Given the description of an element on the screen output the (x, y) to click on. 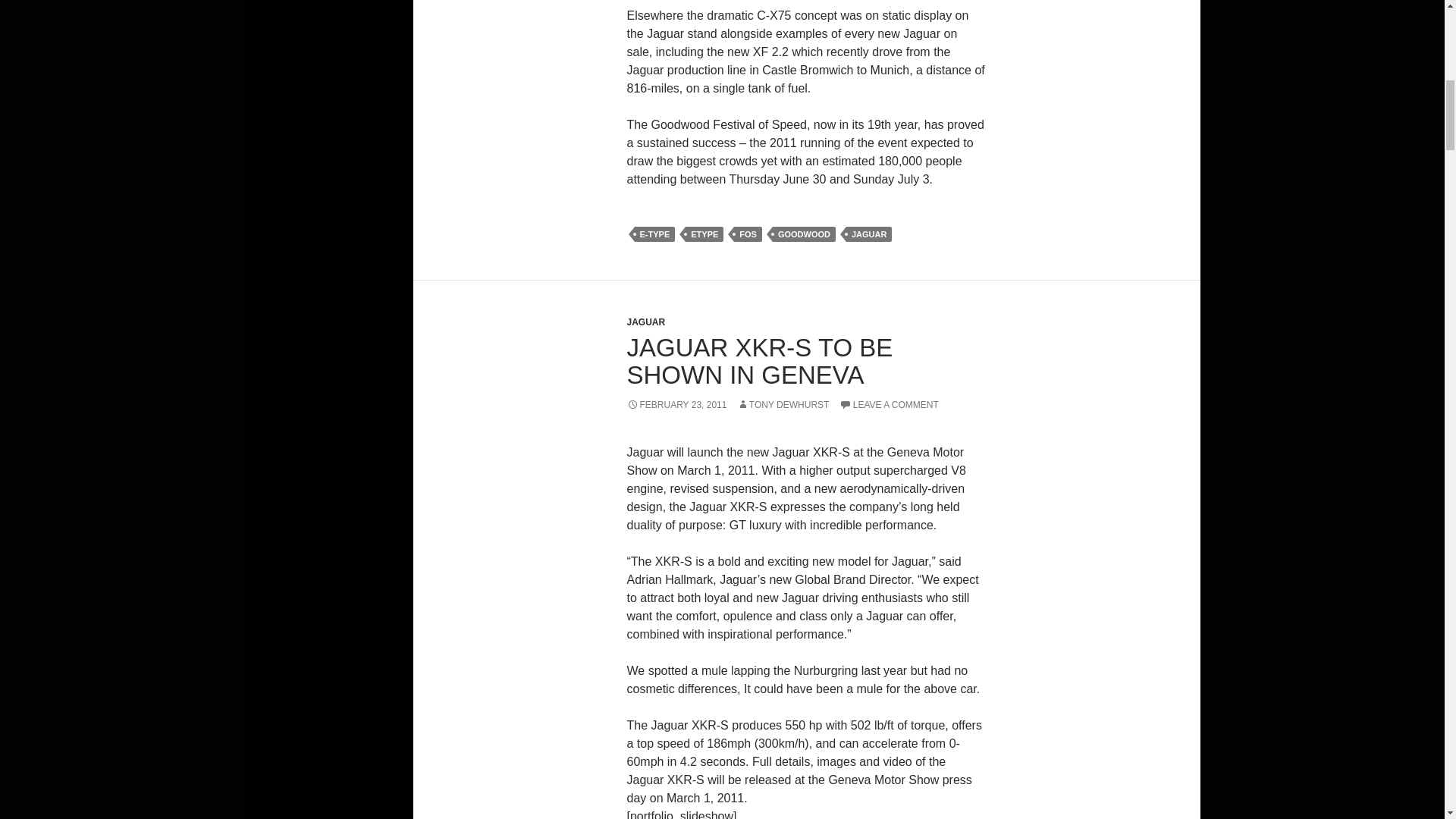
LEAVE A COMMENT (889, 404)
GOODWOOD (804, 233)
E-TYPE (654, 233)
FEBRUARY 23, 2011 (676, 404)
JAGUAR (868, 233)
FOS (747, 233)
ETYPE (704, 233)
JAGUAR XKR-S TO BE SHOWN IN GENEVA (759, 361)
TONY DEWHURST (782, 404)
JAGUAR (645, 321)
